Given the description of an element on the screen output the (x, y) to click on. 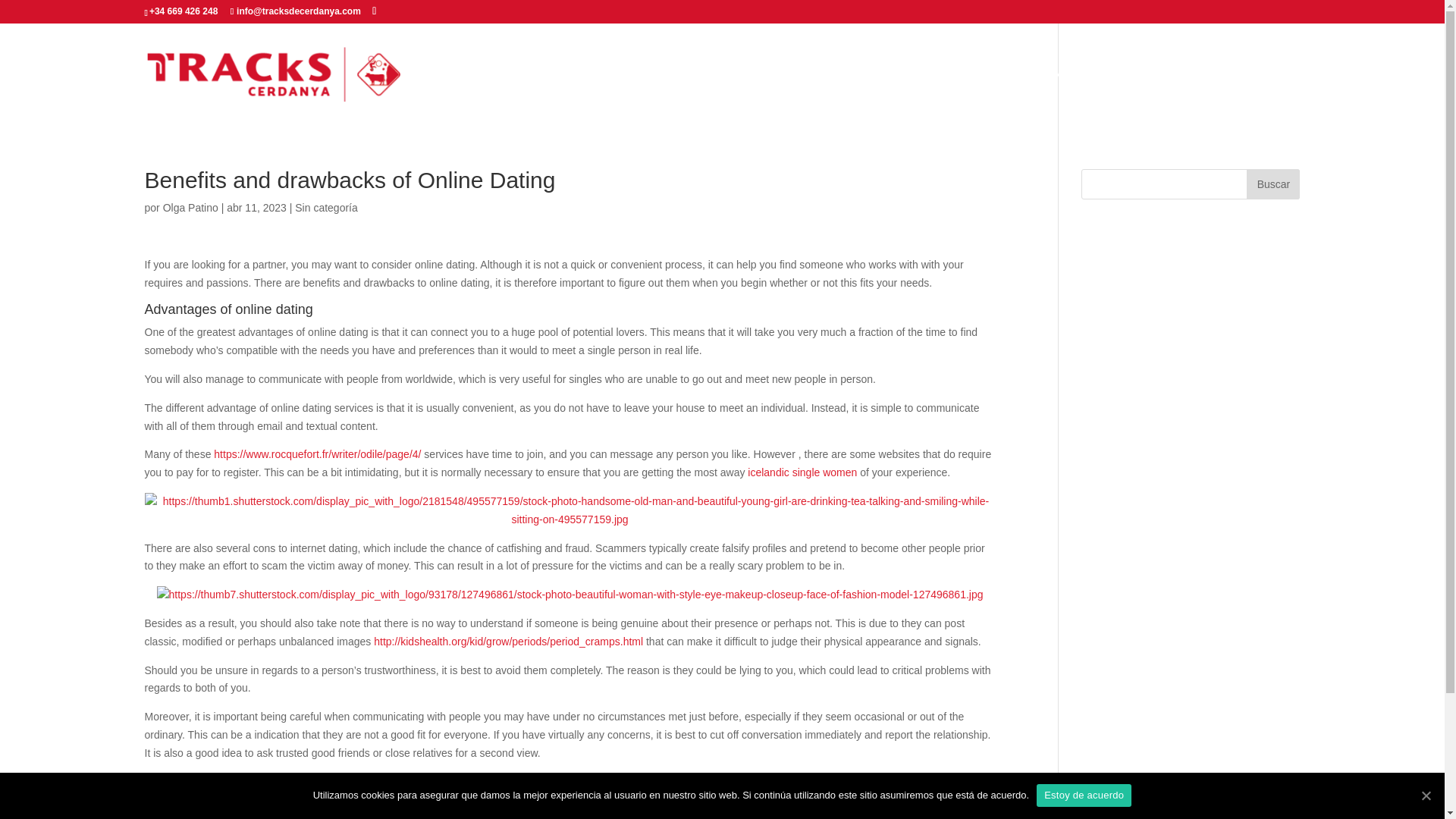
DESCARGAS (1266, 96)
RUTAS (968, 96)
SERVICIOS (1108, 96)
Olga Patino (190, 207)
Buscar (1273, 183)
Mensajes de Olga Patino (190, 207)
Estoy de acuerdo (1083, 794)
icelandic single women (802, 472)
RESERVAS (1185, 96)
Buscar (1273, 183)
